Given the description of an element on the screen output the (x, y) to click on. 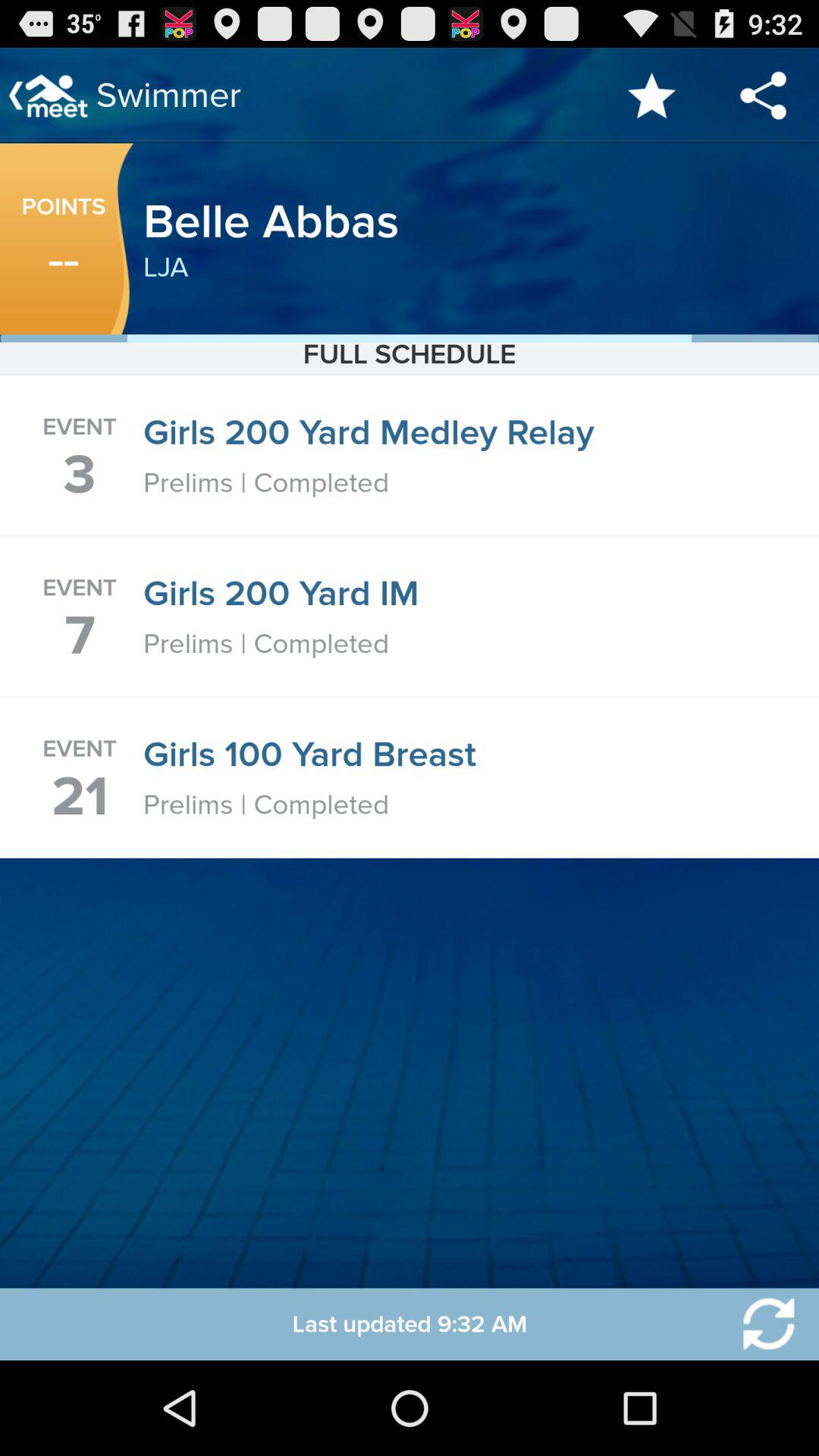
advestisment page (759, 1324)
